Given the description of an element on the screen output the (x, y) to click on. 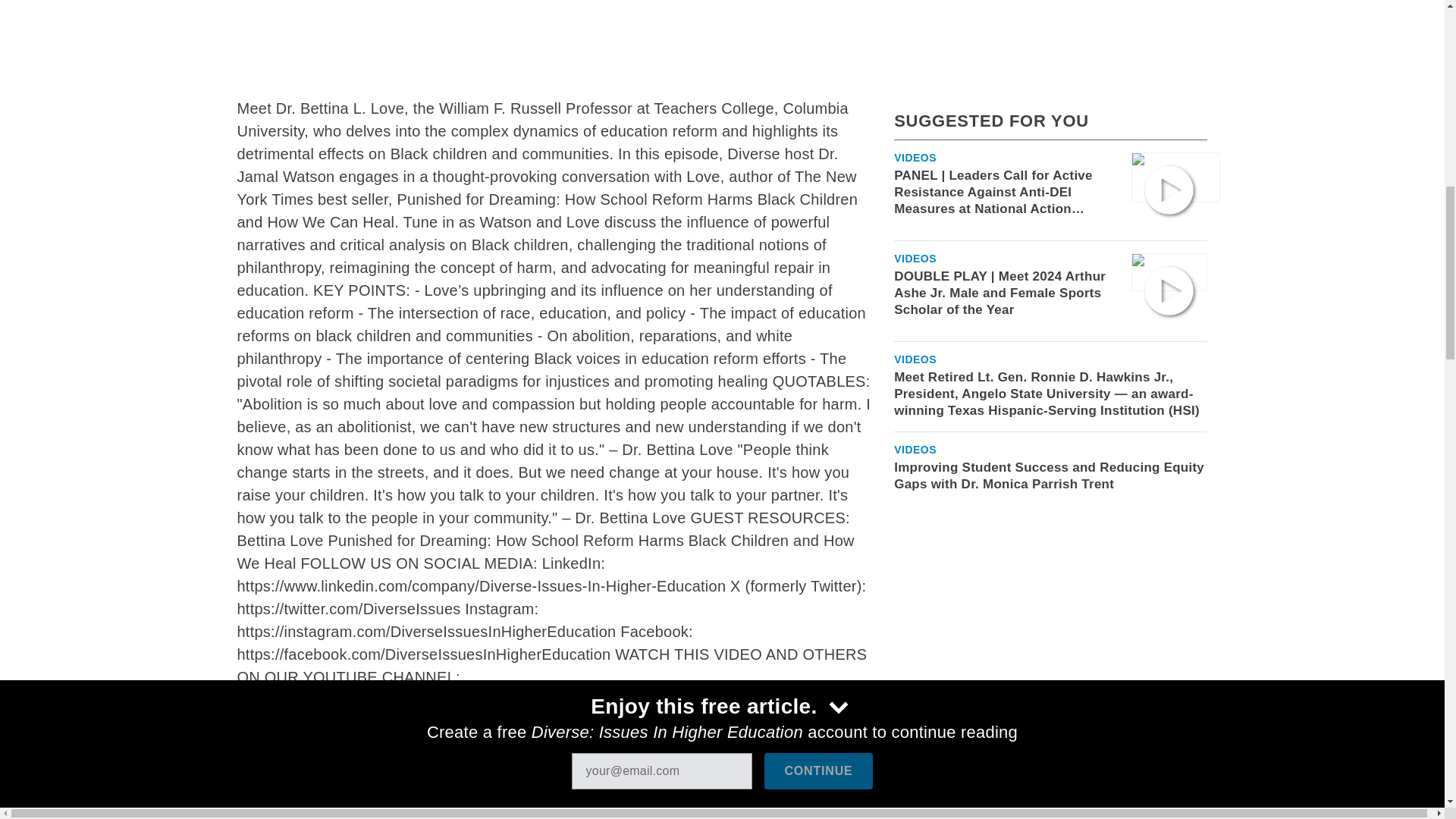
Share To print (250, 808)
Share To facebook (290, 808)
Share To linkedin (330, 808)
